Given the description of an element on the screen output the (x, y) to click on. 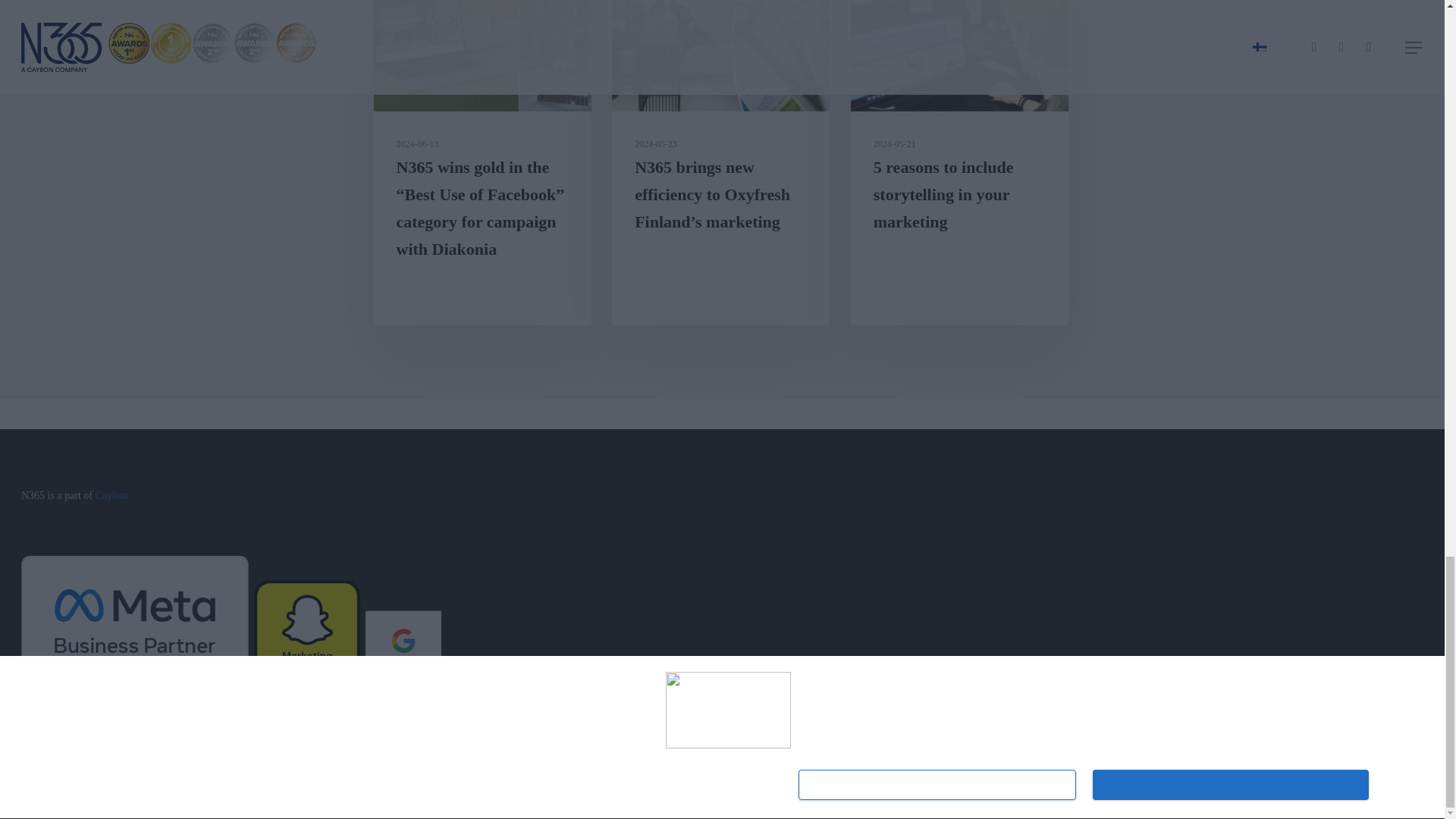
Caybon (112, 495)
